Given the description of an element on the screen output the (x, y) to click on. 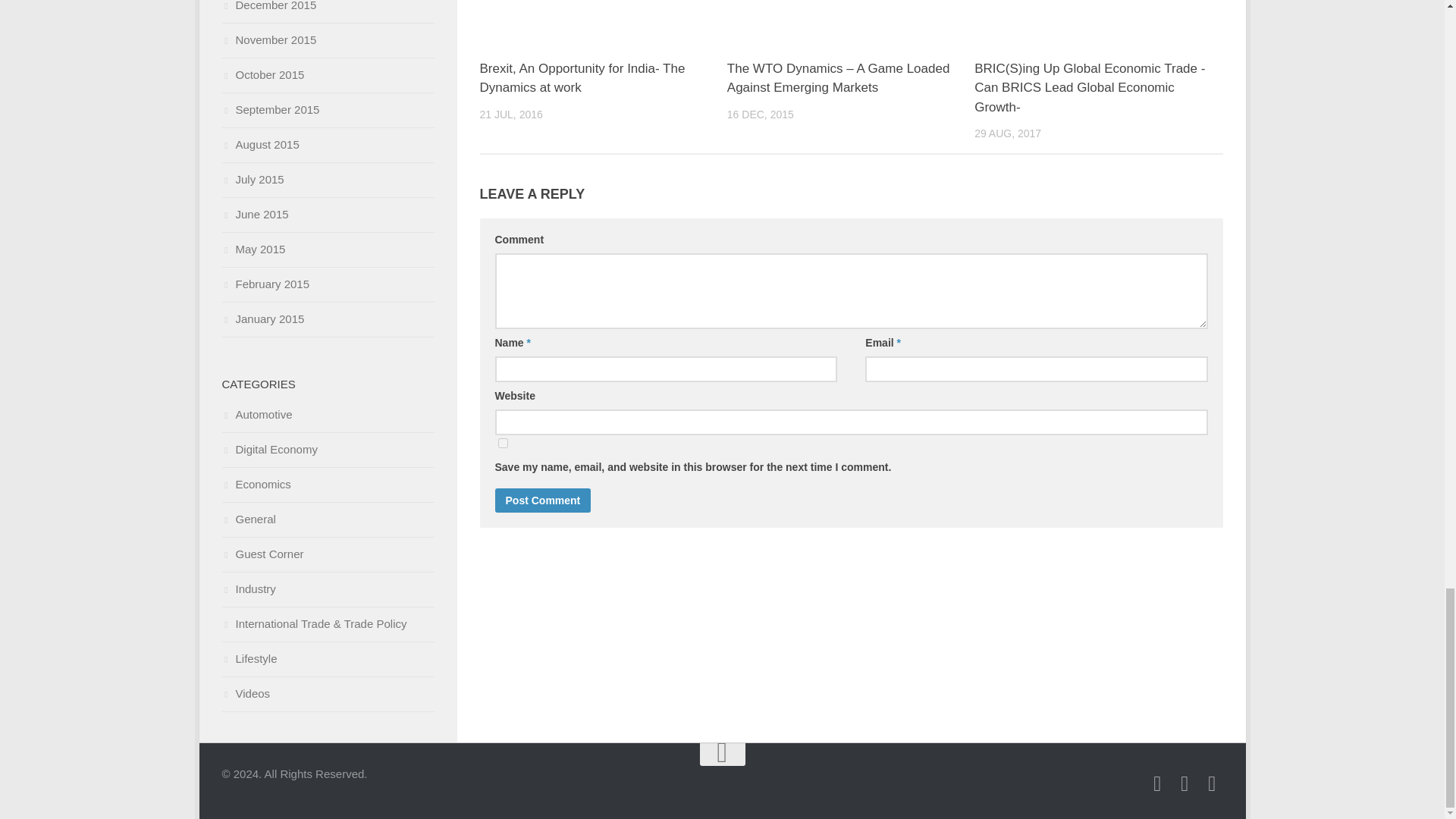
Brexit, An Opportunity for India- The Dynamics at work (581, 78)
Brexit, An Opportunity for India- The Dynamics at work (602, 22)
yes (501, 442)
Brexit, An Opportunity for India- The Dynamics at work (581, 78)
Post Comment (543, 500)
Post Comment (543, 500)
